Given the description of an element on the screen output the (x, y) to click on. 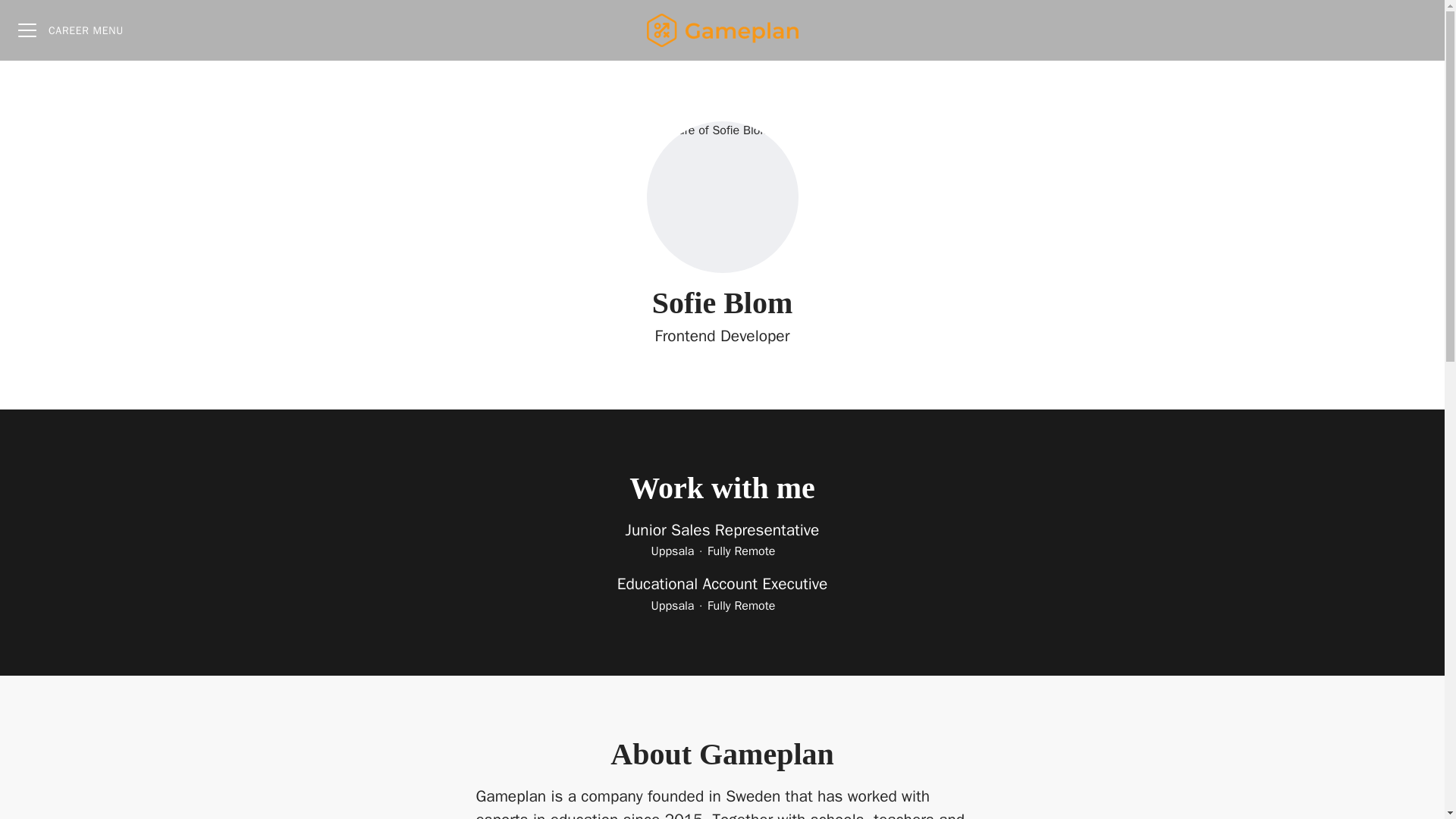
Share page (1414, 30)
CAREER MENU (70, 30)
Career menu (70, 30)
